Given the description of an element on the screen output the (x, y) to click on. 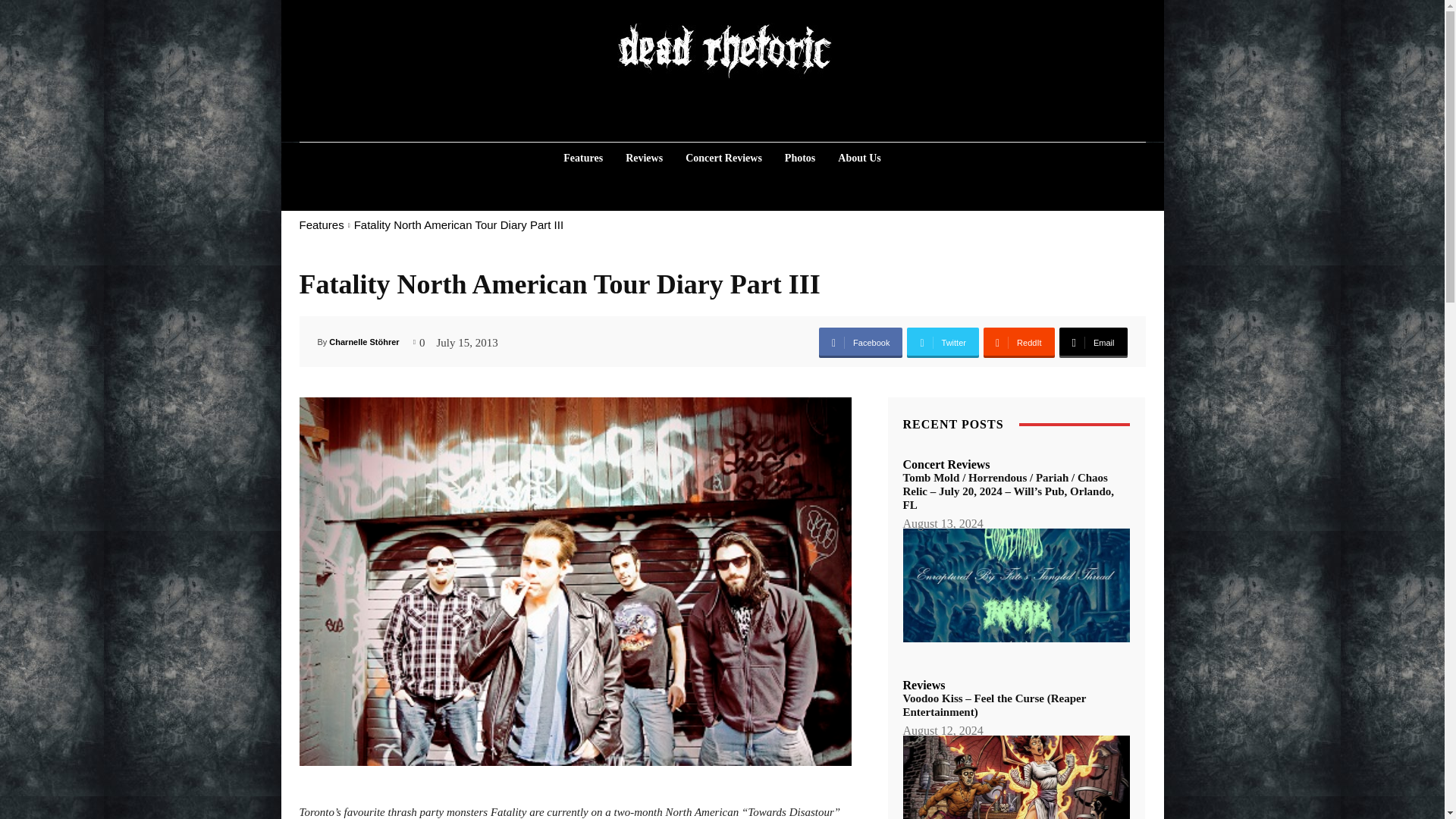
View all posts in Features (320, 224)
Facebook (860, 342)
Facebook (860, 342)
Features (320, 224)
Concert Reviews (724, 158)
About Us (858, 158)
Email (1092, 342)
Reviews (643, 158)
Photos (799, 158)
ReddIt (1019, 342)
